Given the description of an element on the screen output the (x, y) to click on. 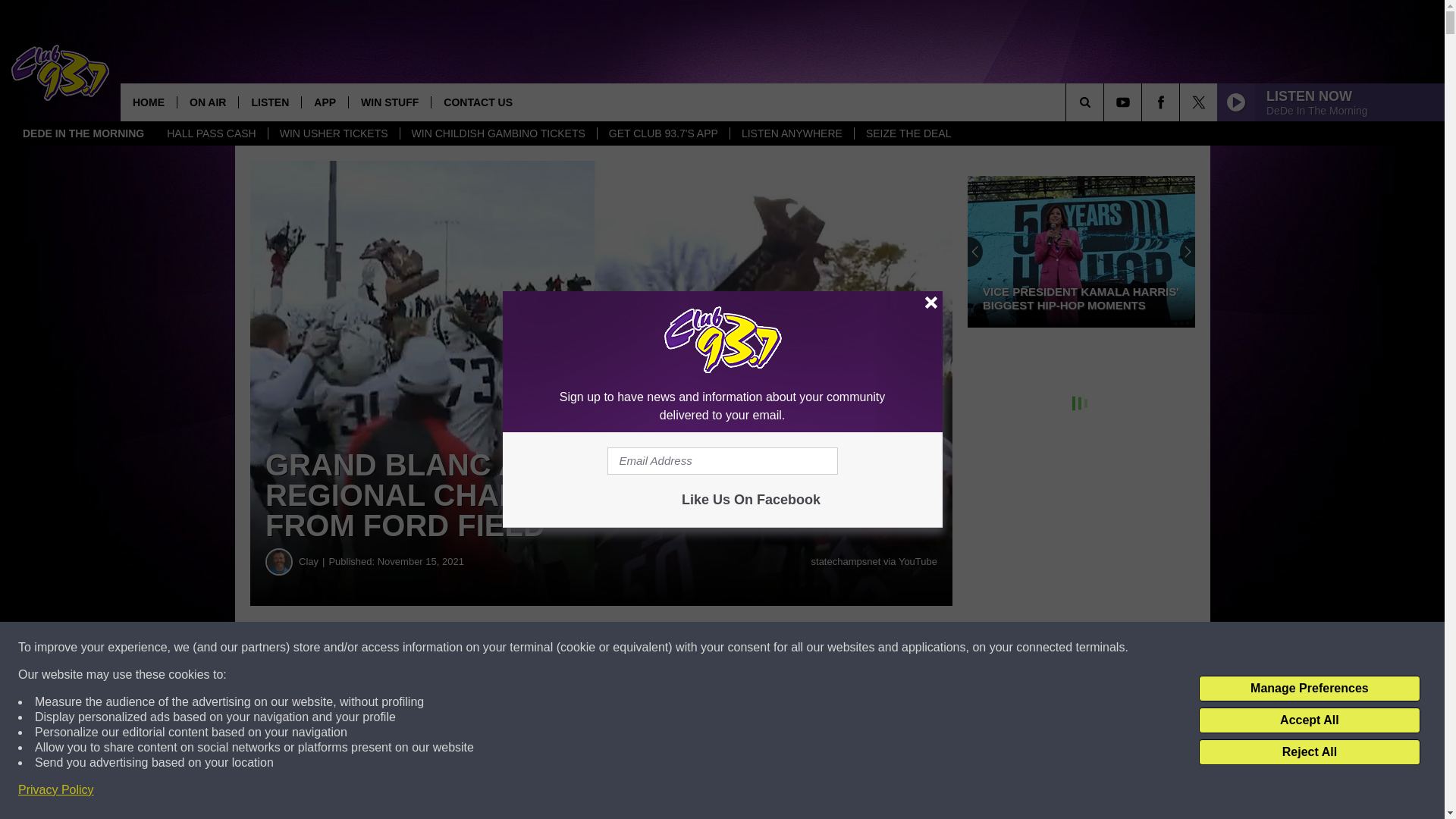
Email Address (722, 461)
Manage Preferences (1309, 688)
DEDE IN THE MORNING (83, 133)
Reject All (1309, 751)
Accept All (1309, 720)
CONTACT US (477, 102)
Privacy Policy (55, 789)
WIN STUFF (388, 102)
LISTEN (269, 102)
WIN CHILDISH GAMBINO TICKETS (497, 133)
SEARCH (1106, 102)
Share on Twitter (741, 647)
Share on Facebook (460, 647)
ON AIR (207, 102)
WIN USHER TICKETS (332, 133)
